Given the description of an element on the screen output the (x, y) to click on. 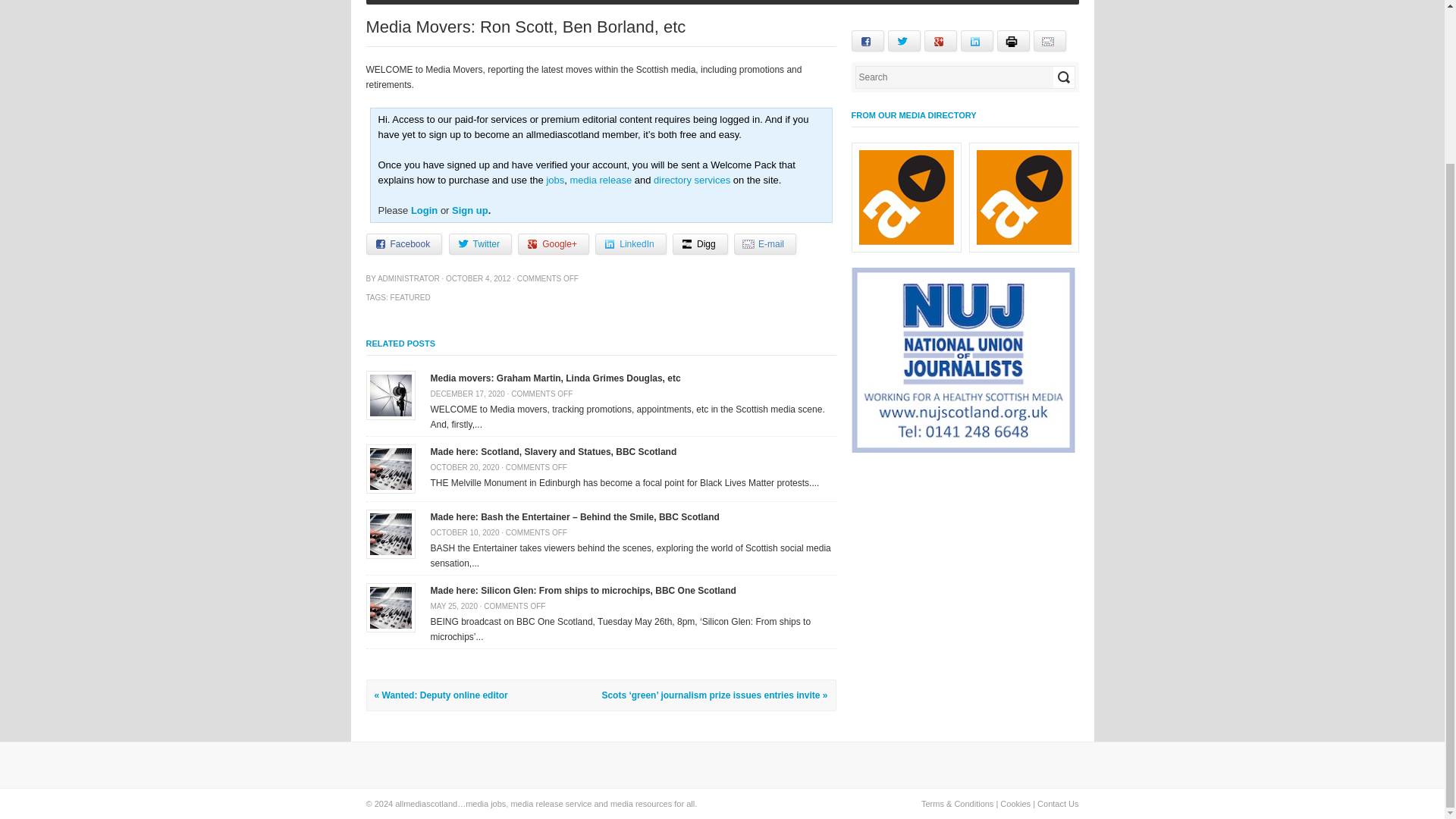
Media release servce (601, 179)
Media directory (691, 179)
Share this article on Digg (700, 243)
Share this article on Twitter (480, 243)
Share this article on LinkedIn (630, 243)
Search (1063, 76)
Share this article on Facebook (403, 243)
Media jobs (555, 179)
